Given the description of an element on the screen output the (x, y) to click on. 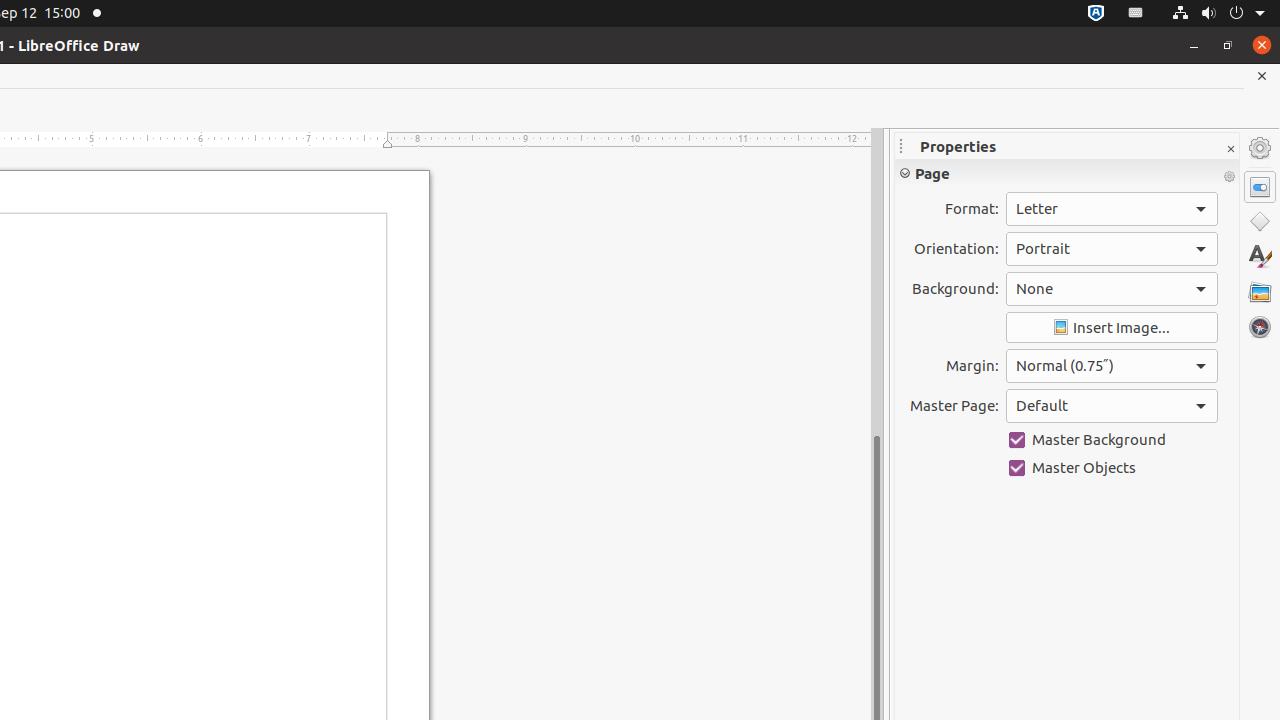
Master Objects Element type: check-box (1112, 468)
Master Background Element type: check-box (1112, 440)
System Element type: menu (1218, 13)
Gallery Element type: radio-button (1260, 292)
Format: Element type: combo-box (1112, 209)
